Given the description of an element on the screen output the (x, y) to click on. 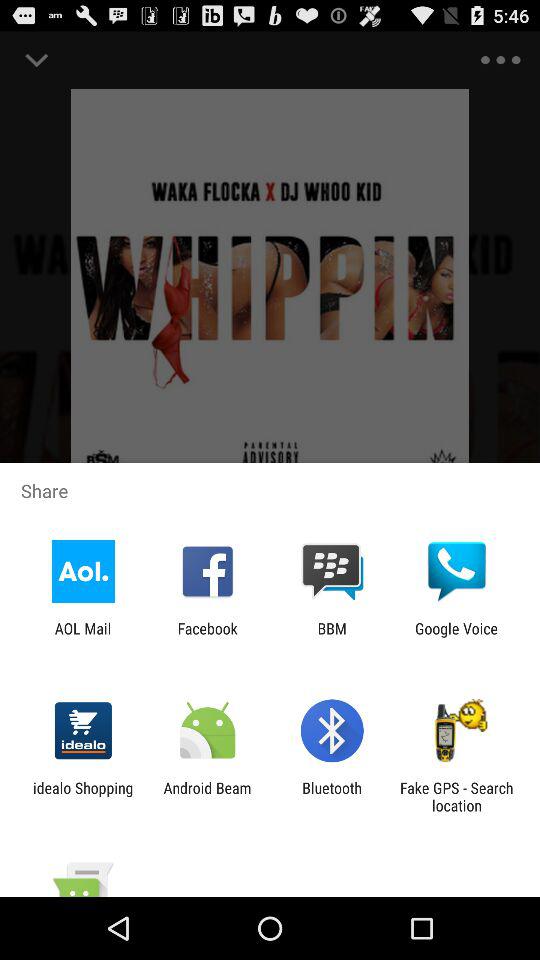
press app next to idealo shopping icon (207, 796)
